Given the description of an element on the screen output the (x, y) to click on. 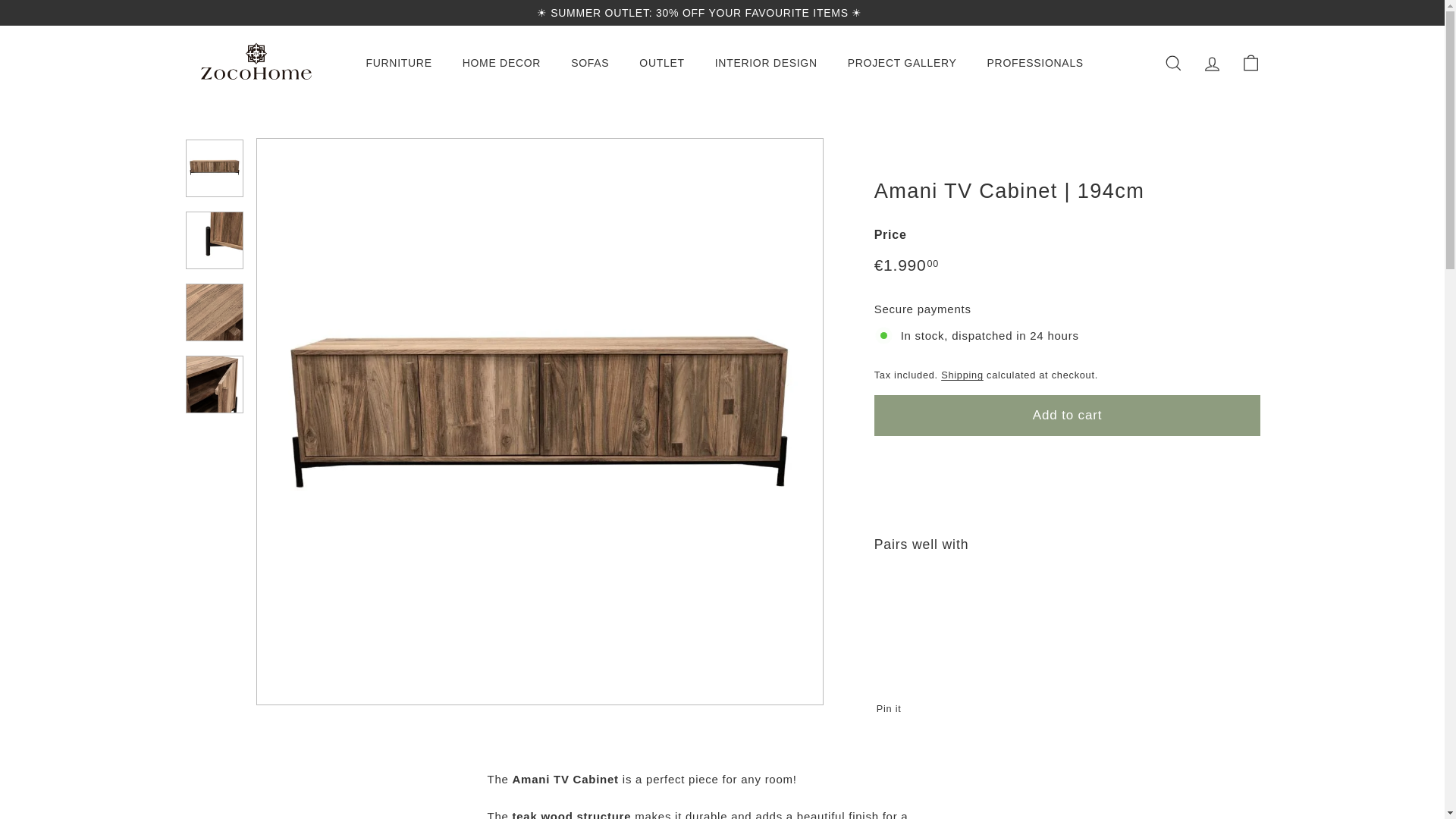
Instagram (1226, 12)
Zoco Home  on TikTok (1256, 12)
Pin on Pinterest (893, 708)
Zoco Home  on Facebook (1233, 12)
Zoco Home  on Instagram (1226, 12)
Facebook (1233, 12)
Pinterest (1248, 12)
TikTok (1256, 12)
Zoco Home  on YouTube (1240, 12)
YouTube (1240, 12)
Zoco Home  on Pinterest (1248, 12)
